Given the description of an element on the screen output the (x, y) to click on. 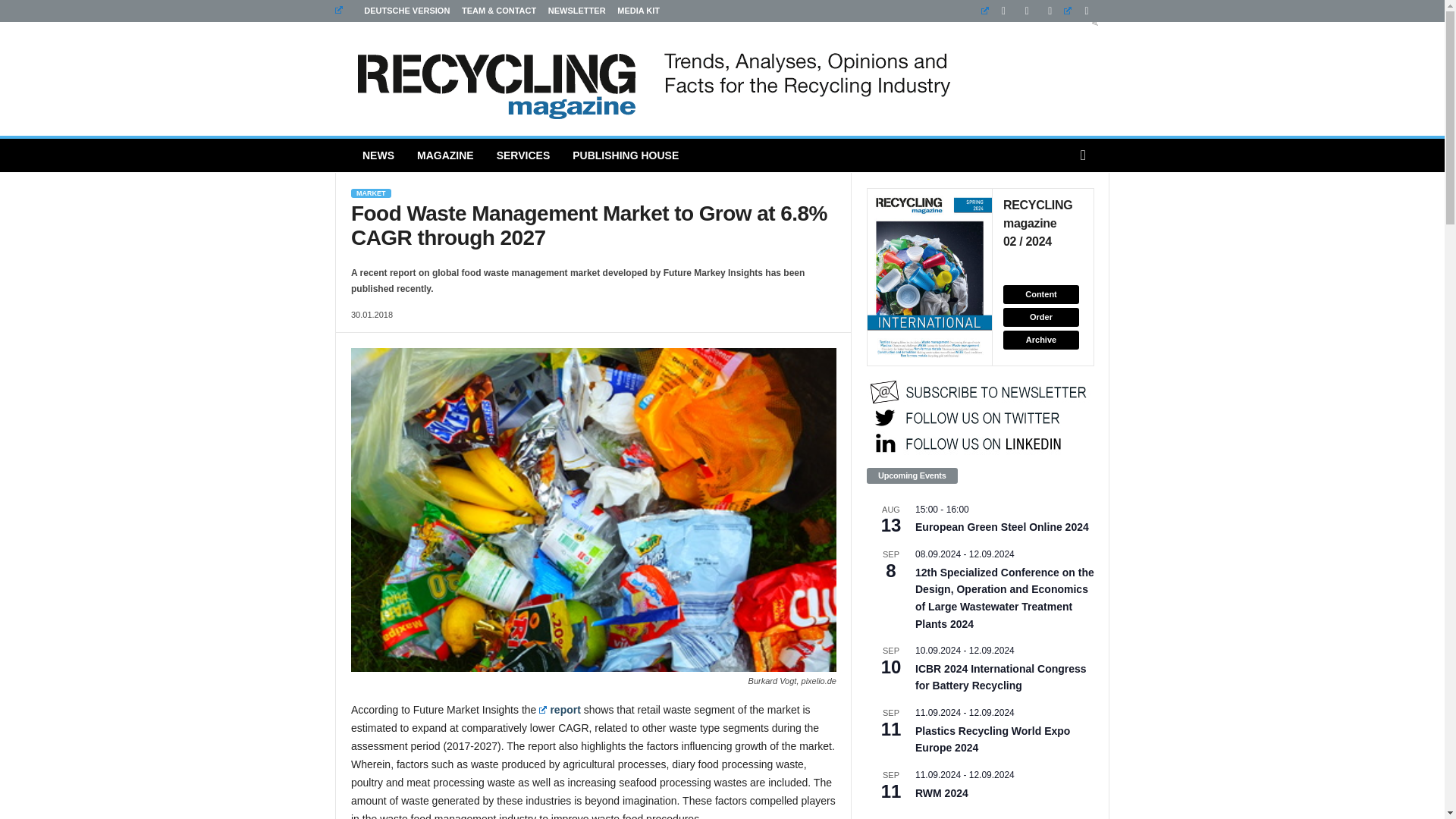
MEDIA KIT (638, 10)
Twitter (1080, 11)
NEWSLETTER (576, 10)
Linkedin (997, 11)
DEUTSCHE VERSION (391, 10)
